Given the description of an element on the screen output the (x, y) to click on. 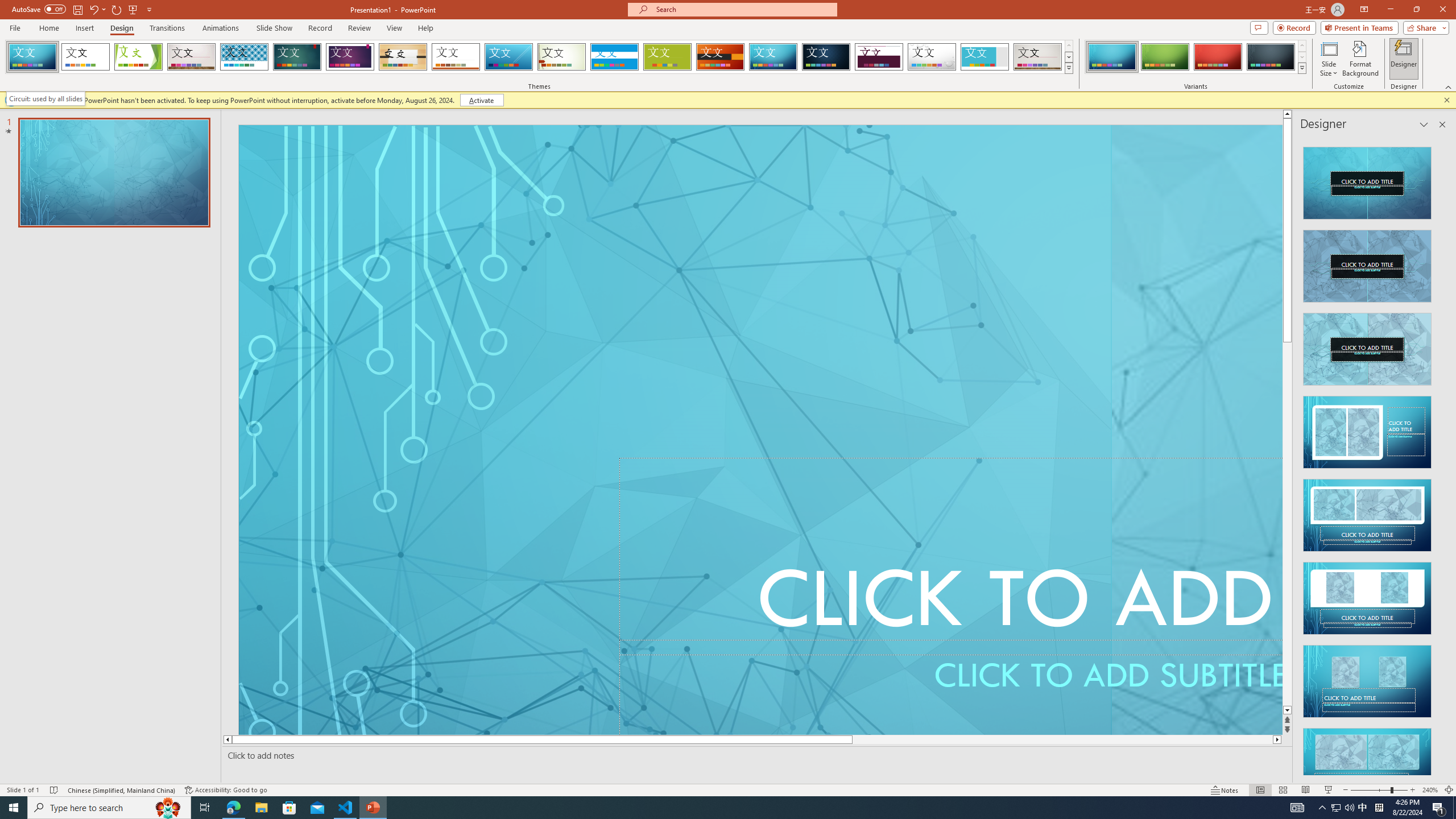
Circuit Variant 1 (1112, 56)
Facet (138, 56)
Berlin (720, 56)
Design Idea (1366, 760)
Slice (508, 56)
Droplet (931, 56)
Retrospect (455, 56)
AutomationID: ThemeVariantsGallery (1195, 56)
Office Theme (85, 56)
